Given the description of an element on the screen output the (x, y) to click on. 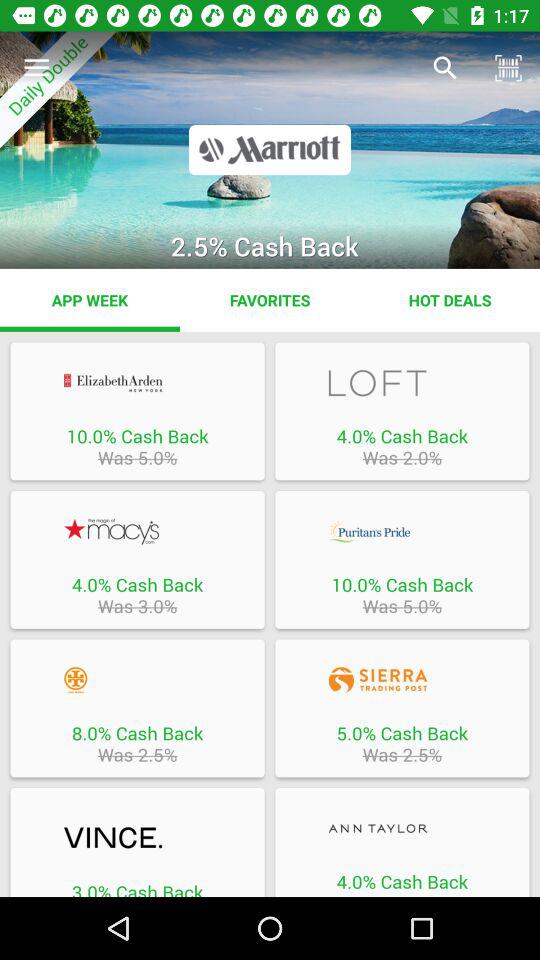
go to sierra trading post website (402, 679)
